Given the description of an element on the screen output the (x, y) to click on. 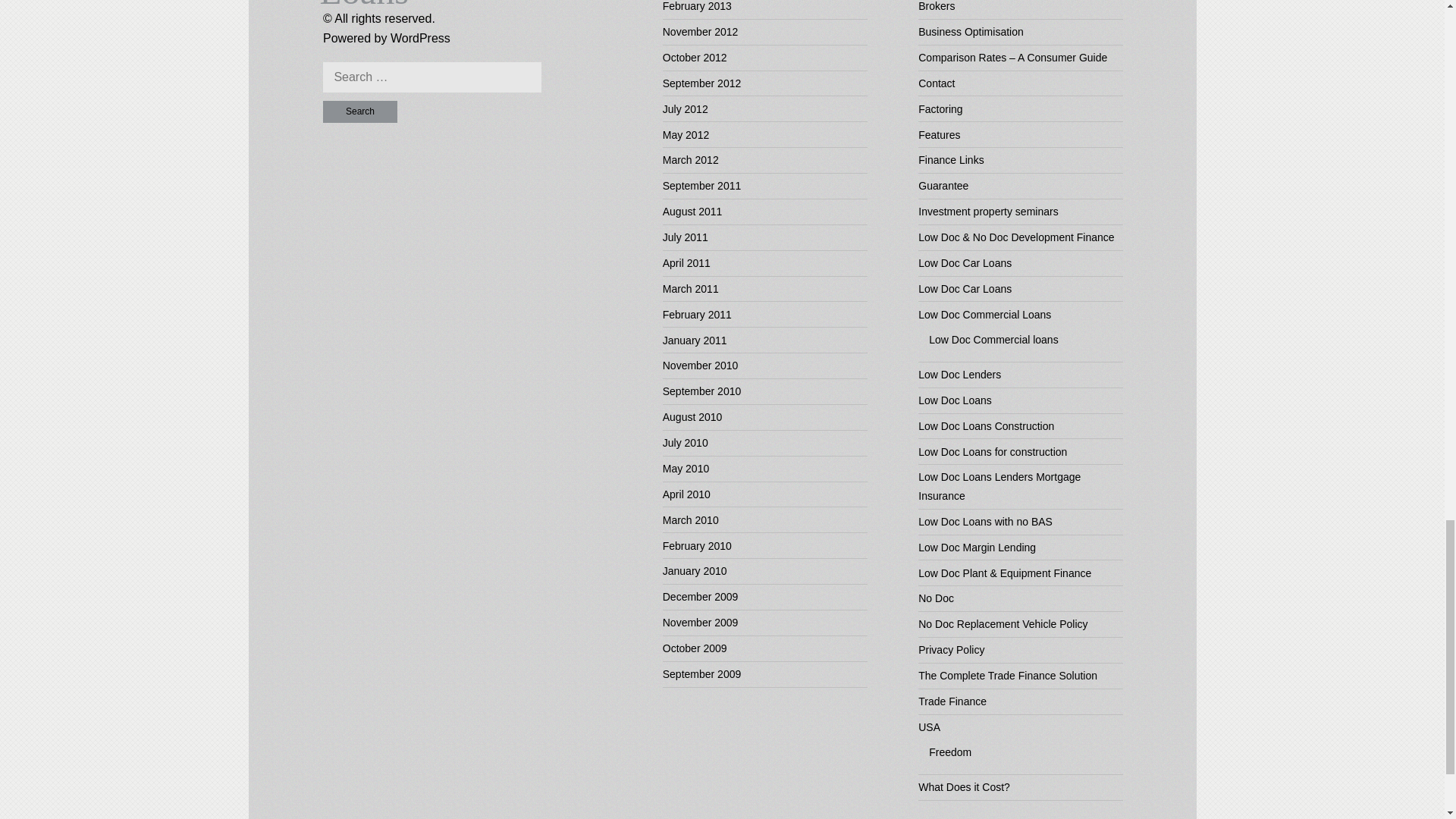
A Semantic Personal Publishing Platform (419, 38)
Search for: (432, 77)
Search (360, 111)
Search (360, 111)
